Given the description of an element on the screen output the (x, y) to click on. 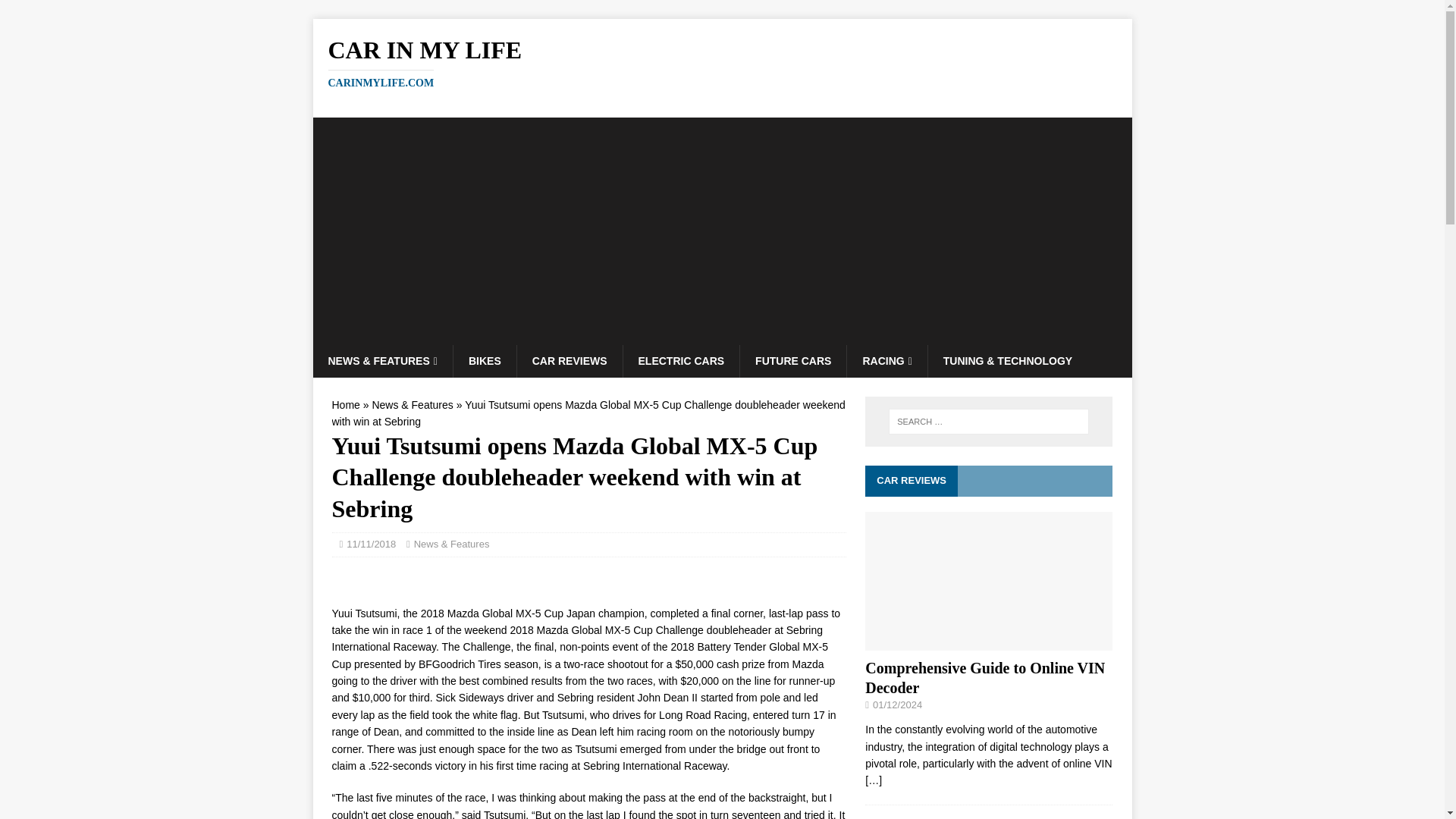
RACING (885, 360)
Home (345, 404)
BIKES (484, 360)
CAR REVIEWS (721, 62)
FUTURE CARS (569, 360)
ELECTRIC CARS (792, 360)
Car in My Life (681, 360)
